Given the description of an element on the screen output the (x, y) to click on. 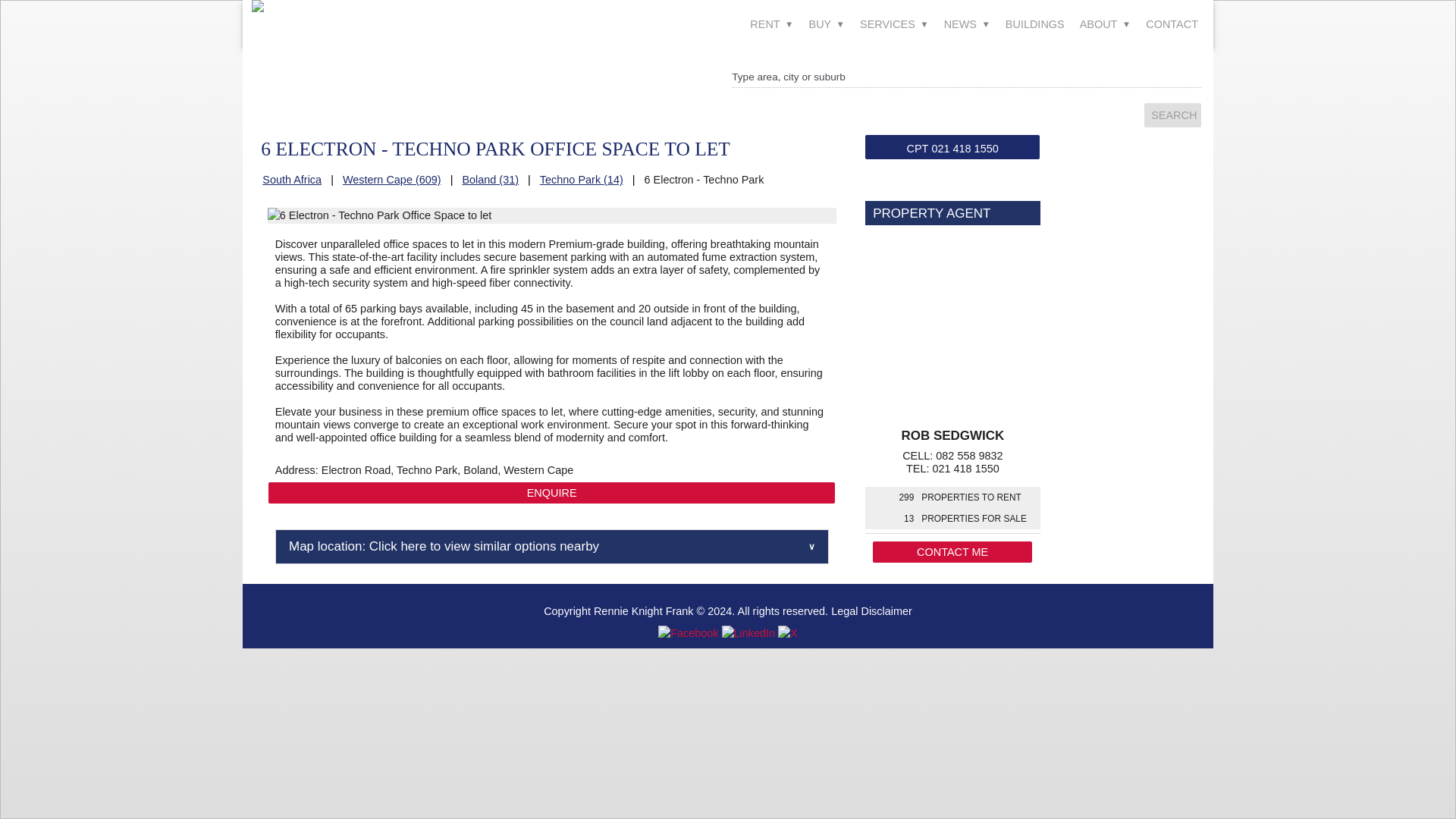
Contact a Real Estate Agent for Office Space in Techno Park (550, 492)
Search (1172, 115)
Search (1172, 115)
BUILDINGS (1034, 24)
